Given the description of an element on the screen output the (x, y) to click on. 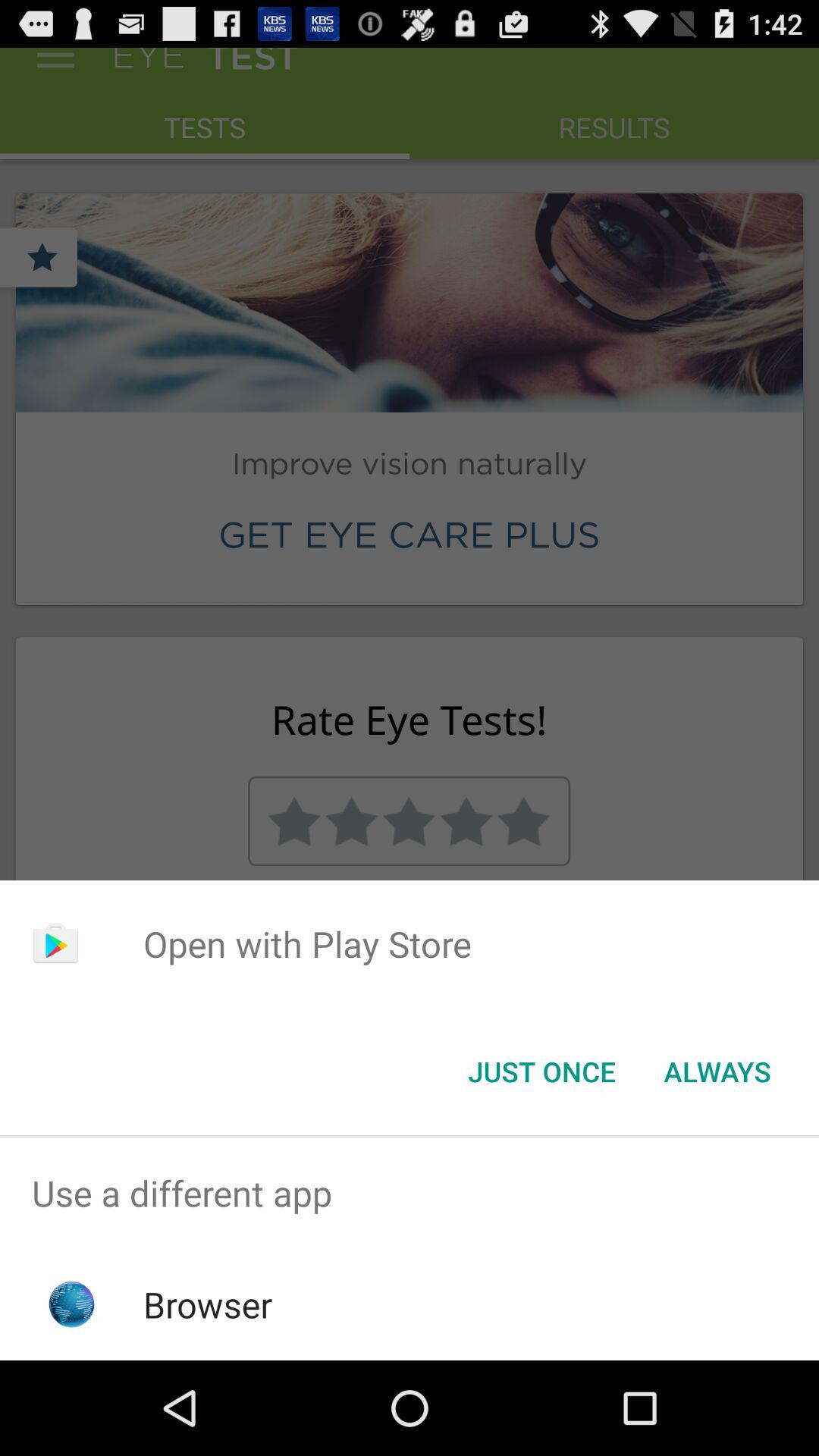
scroll until use a different icon (409, 1192)
